Given the description of an element on the screen output the (x, y) to click on. 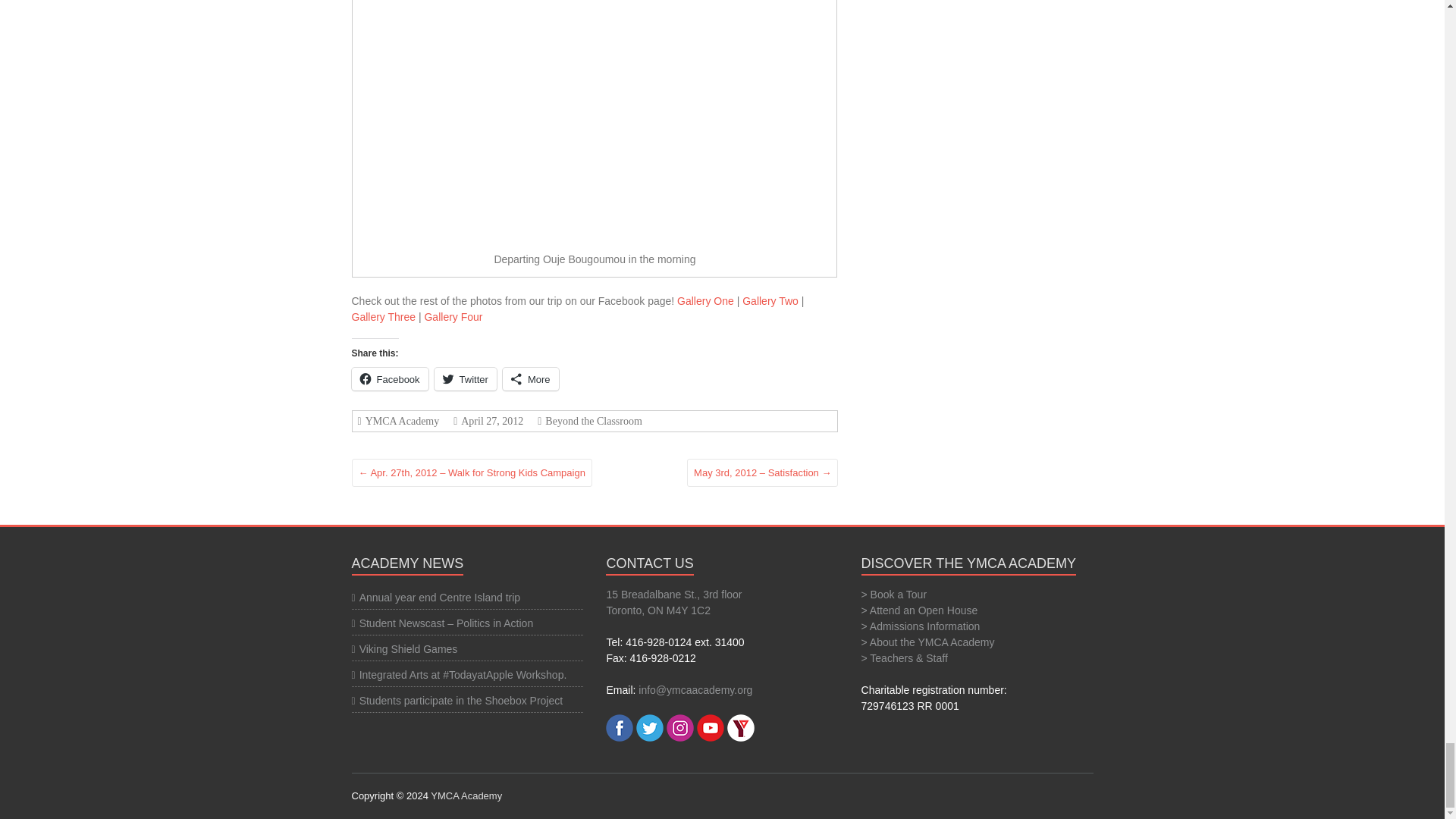
Gallery One (705, 300)
Twitter (464, 378)
Click to share on Twitter (464, 378)
Gallery Three (384, 316)
Gallery Two (769, 300)
Click to share on Facebook (390, 378)
Gallery Four (452, 316)
YMCA Academy (466, 795)
4:27 pm (489, 420)
More (530, 378)
